Given the description of an element on the screen output the (x, y) to click on. 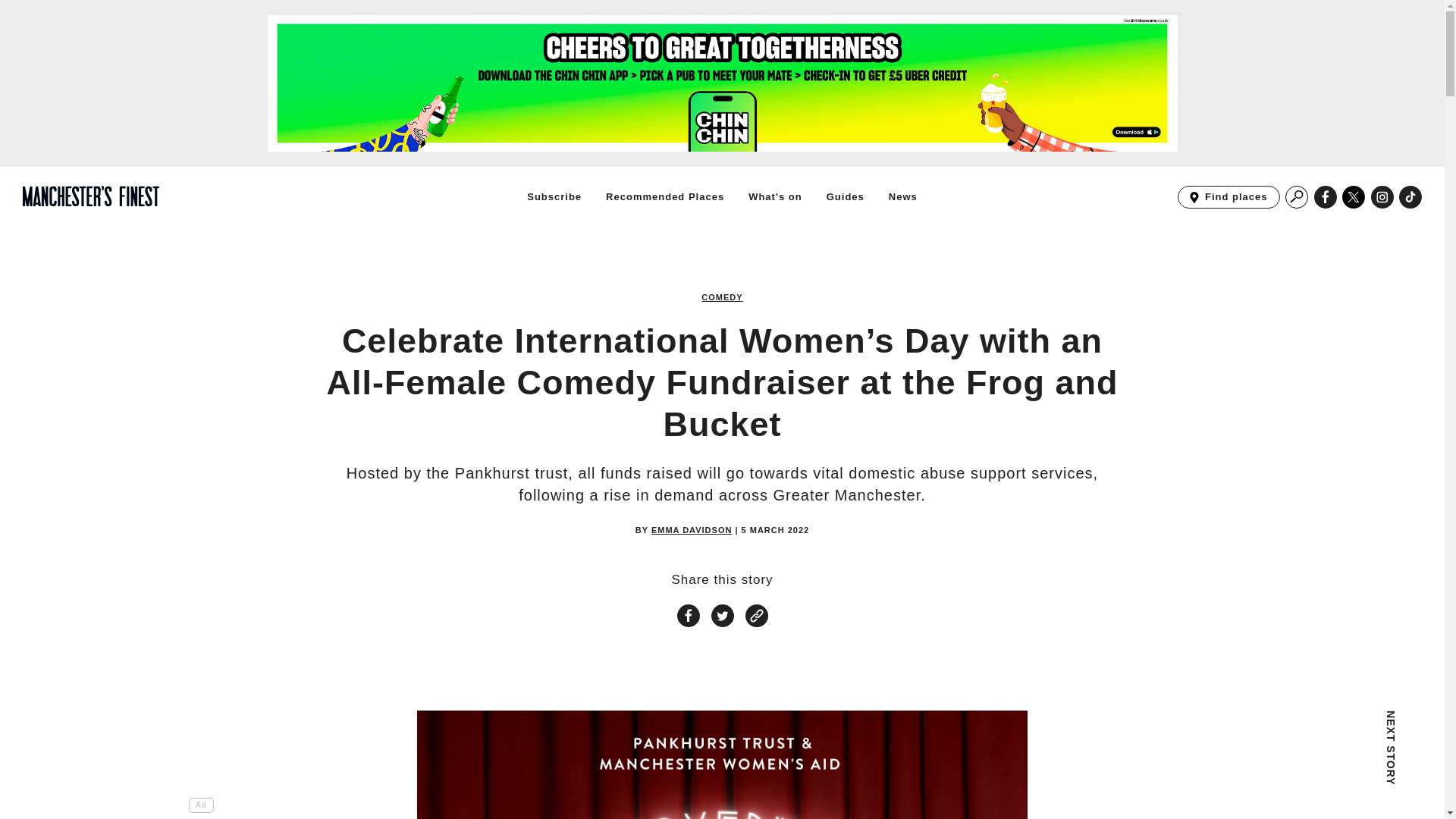
COMEDY (721, 297)
Subscribe (553, 196)
News (902, 196)
Go to Manchester's Finest TikTok profile (1410, 196)
Go to Manchester's Finest Instagram profile (1382, 196)
Go to Manchester's Finest X profile (1353, 196)
Go to Manchester's Finest X profile (1353, 196)
NEXT STORY (1297, 764)
Guides (845, 196)
Go to Manchester's Finest Facebook page (1228, 196)
What's on (1325, 196)
Search Manchester's Finest (775, 196)
Go to Manchester's Finest Instagram profile (1296, 196)
Go to Manchester's Finest Facebook page (1382, 196)
